Given the description of an element on the screen output the (x, y) to click on. 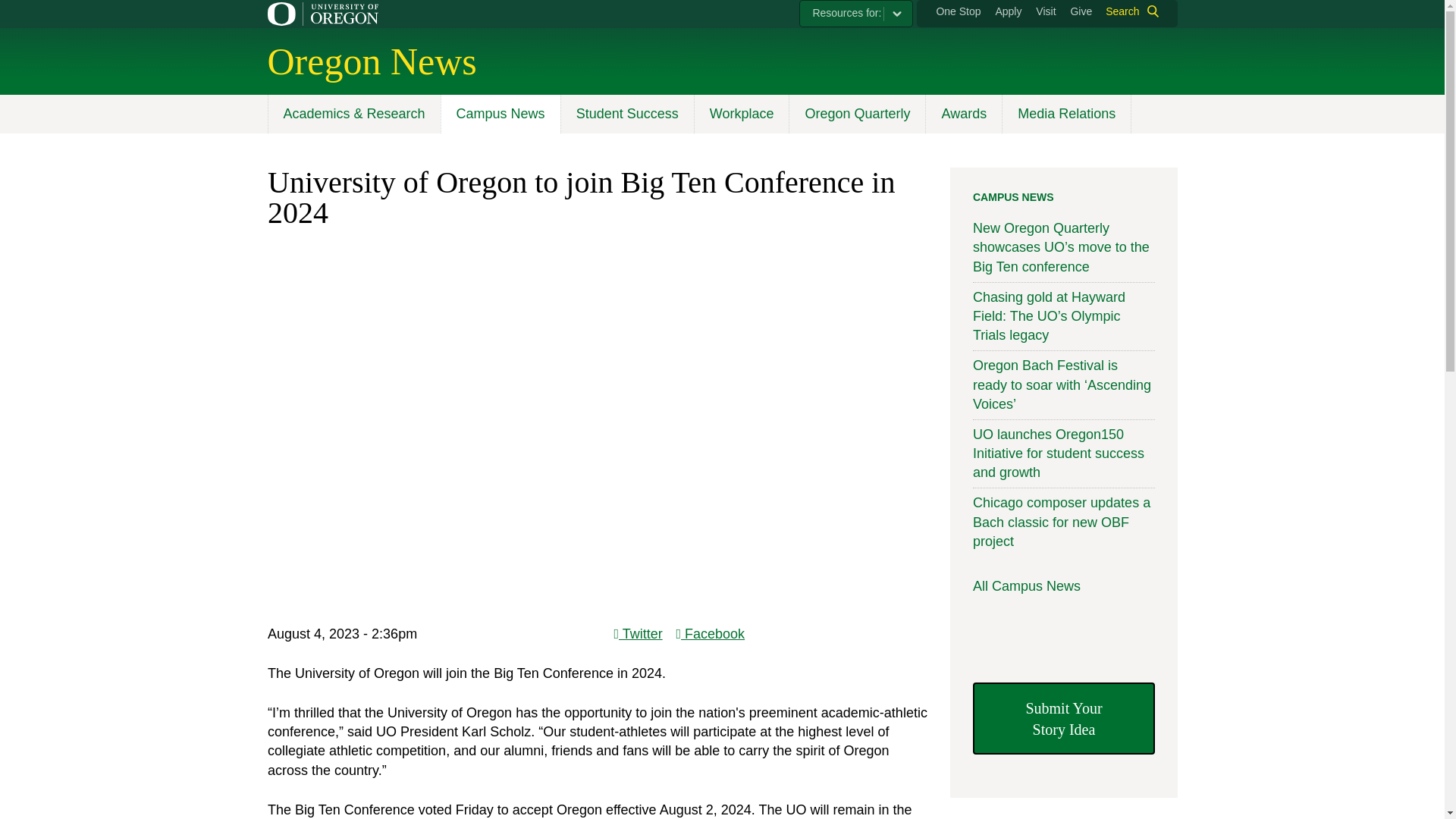
Oregon NewsHome (371, 61)
Search (1128, 11)
Give (1081, 10)
One Stop (957, 10)
Resources for: (855, 13)
Apply (1008, 10)
Visit (1045, 10)
